Given the description of an element on the screen output the (x, y) to click on. 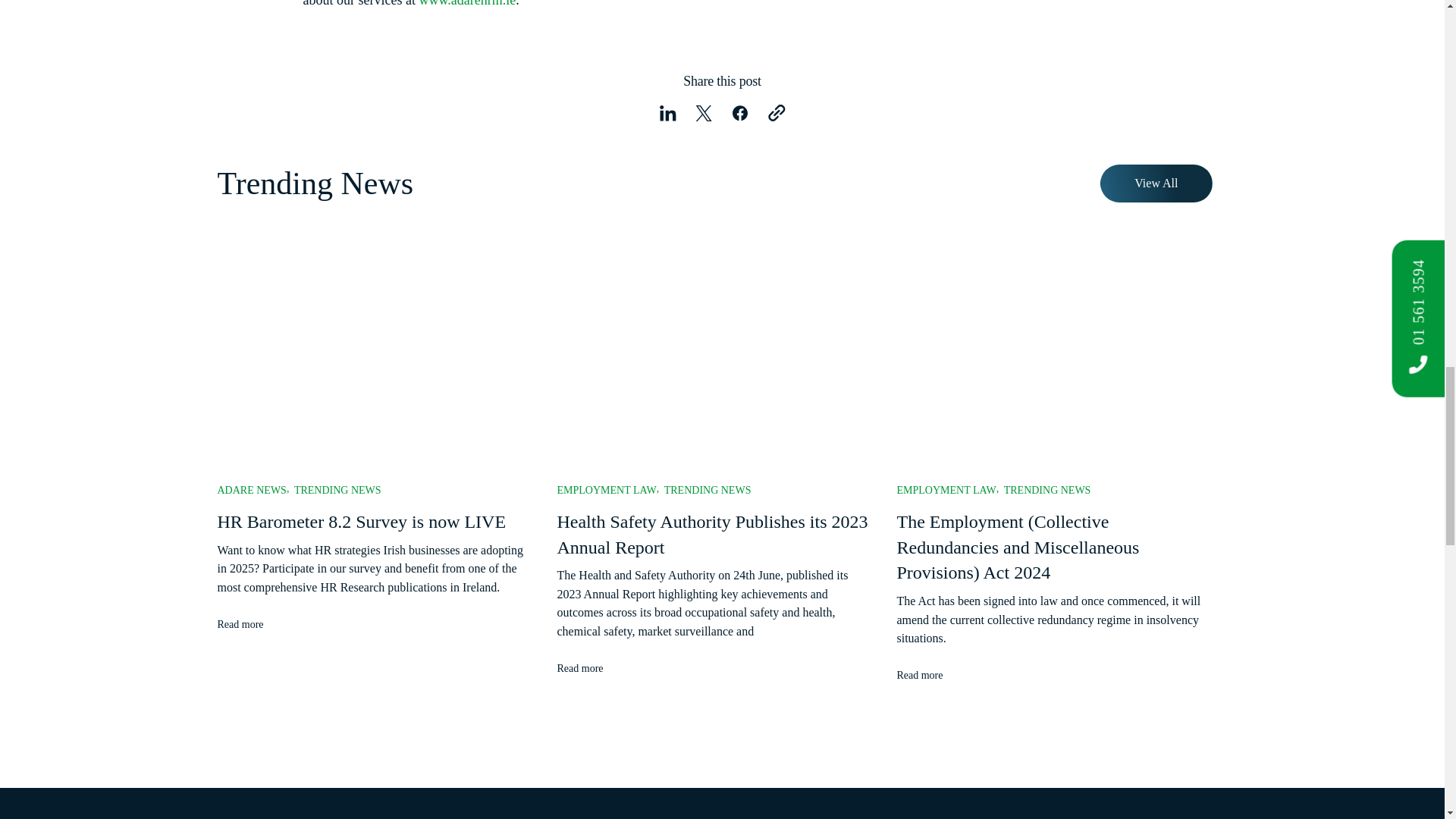
Read more (931, 675)
View All (1155, 183)
Read more (591, 668)
Read more (251, 624)
